Given the description of an element on the screen output the (x, y) to click on. 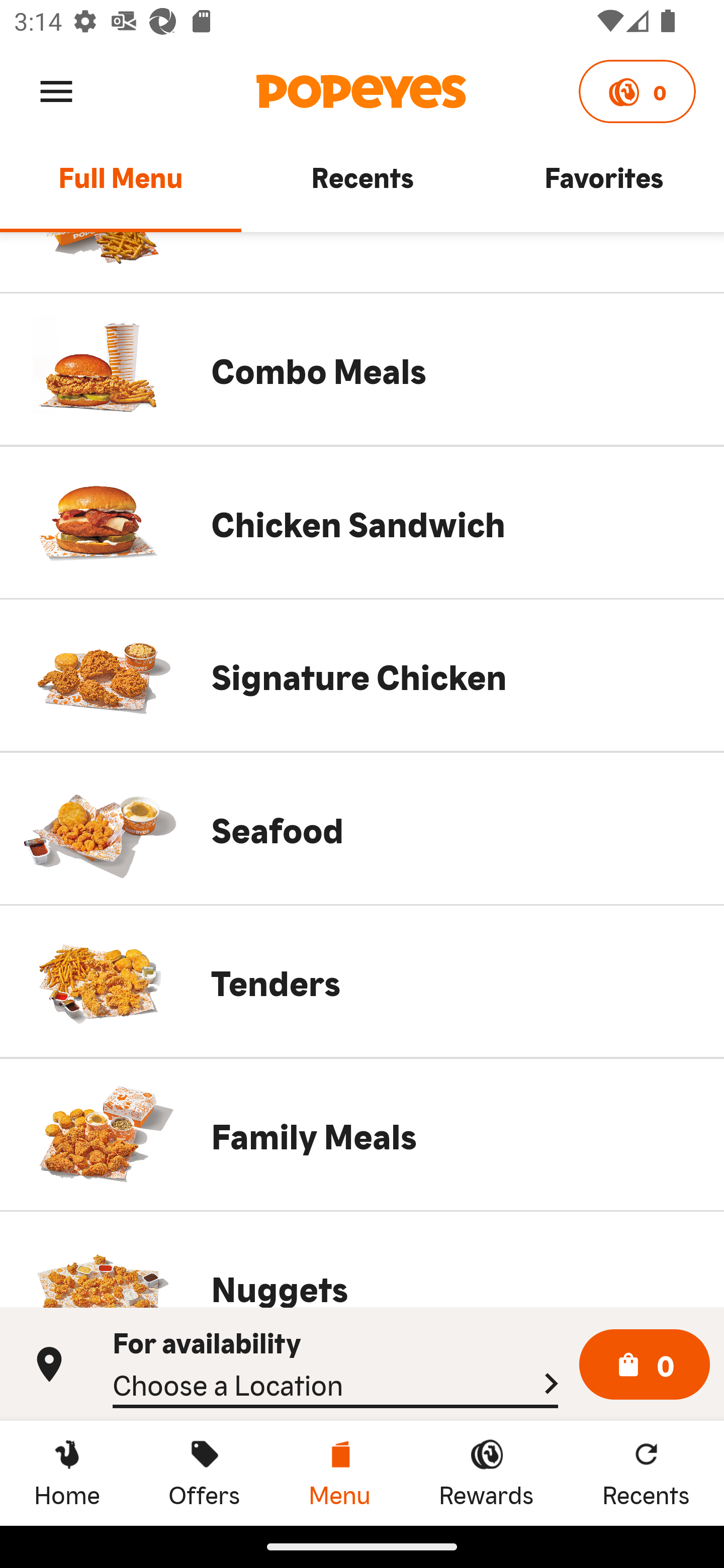
Menu  (56, 90)
0 Points 0 (636, 91)
Full Menu (120, 186)
Recents (361, 186)
Favorites (603, 186)
Seafood, Seafood Seafood Seafood (362, 828)
Chicken Tenders, Tenders Chicken Tenders Tenders (362, 981)
Nuggets, Nuggets Nuggets Nuggets (362, 1259)
0 Cart total  0 (644, 1364)
Home Home Home (66, 1472)
Offers Offers Offers (203, 1472)
Menu, current page Menu Menu, current page (339, 1472)
Rewards Rewards Rewards (486, 1472)
Recents Recents Recents (646, 1472)
